Given the description of an element on the screen output the (x, y) to click on. 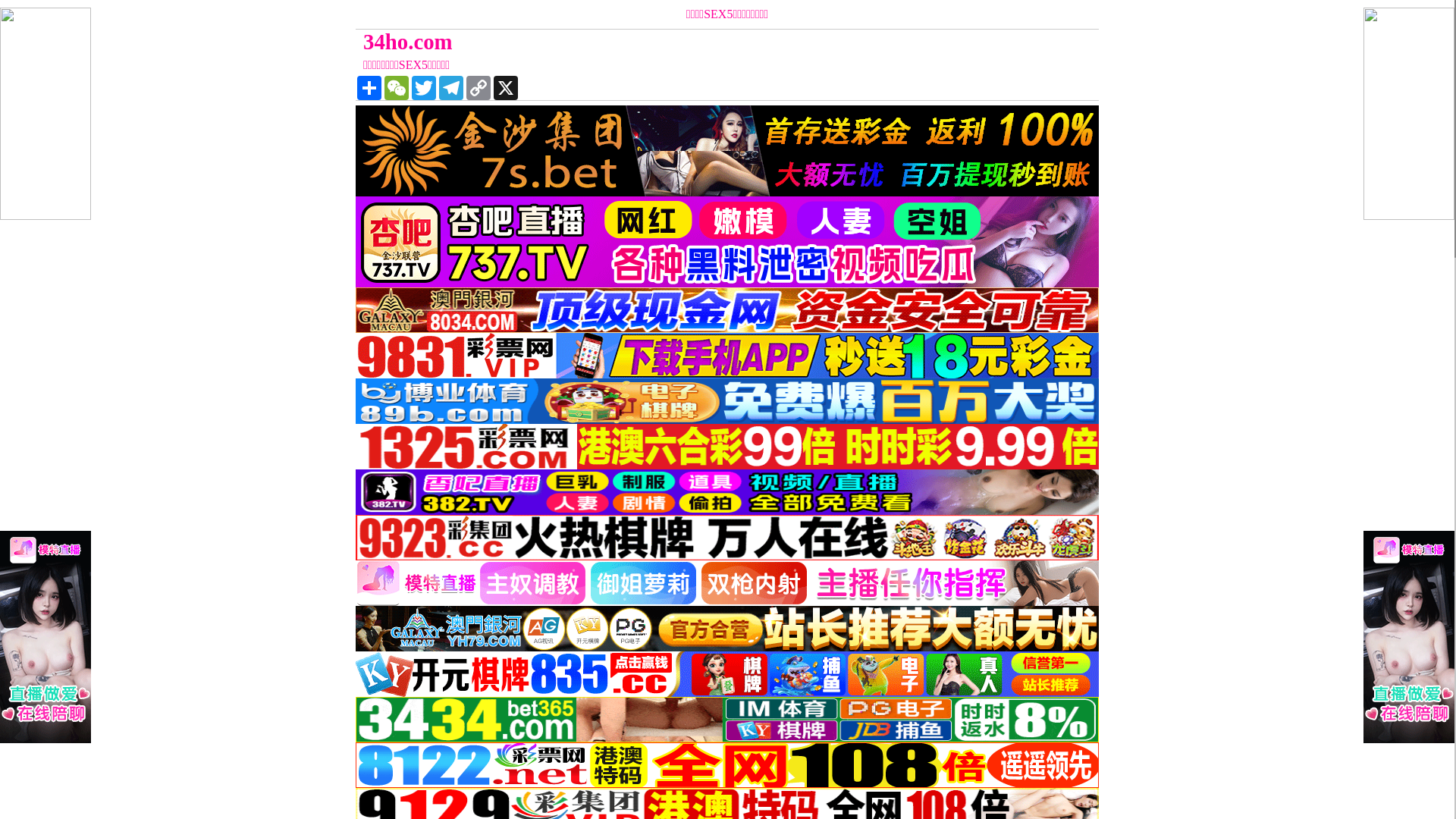
Copy Link Element type: text (478, 87)
WeChat Element type: text (396, 87)
X Element type: text (505, 87)
34ho.com Element type: text (634, 41)
Telegram Element type: text (450, 87)
Twitter Element type: text (423, 87)
